Given the description of an element on the screen output the (x, y) to click on. 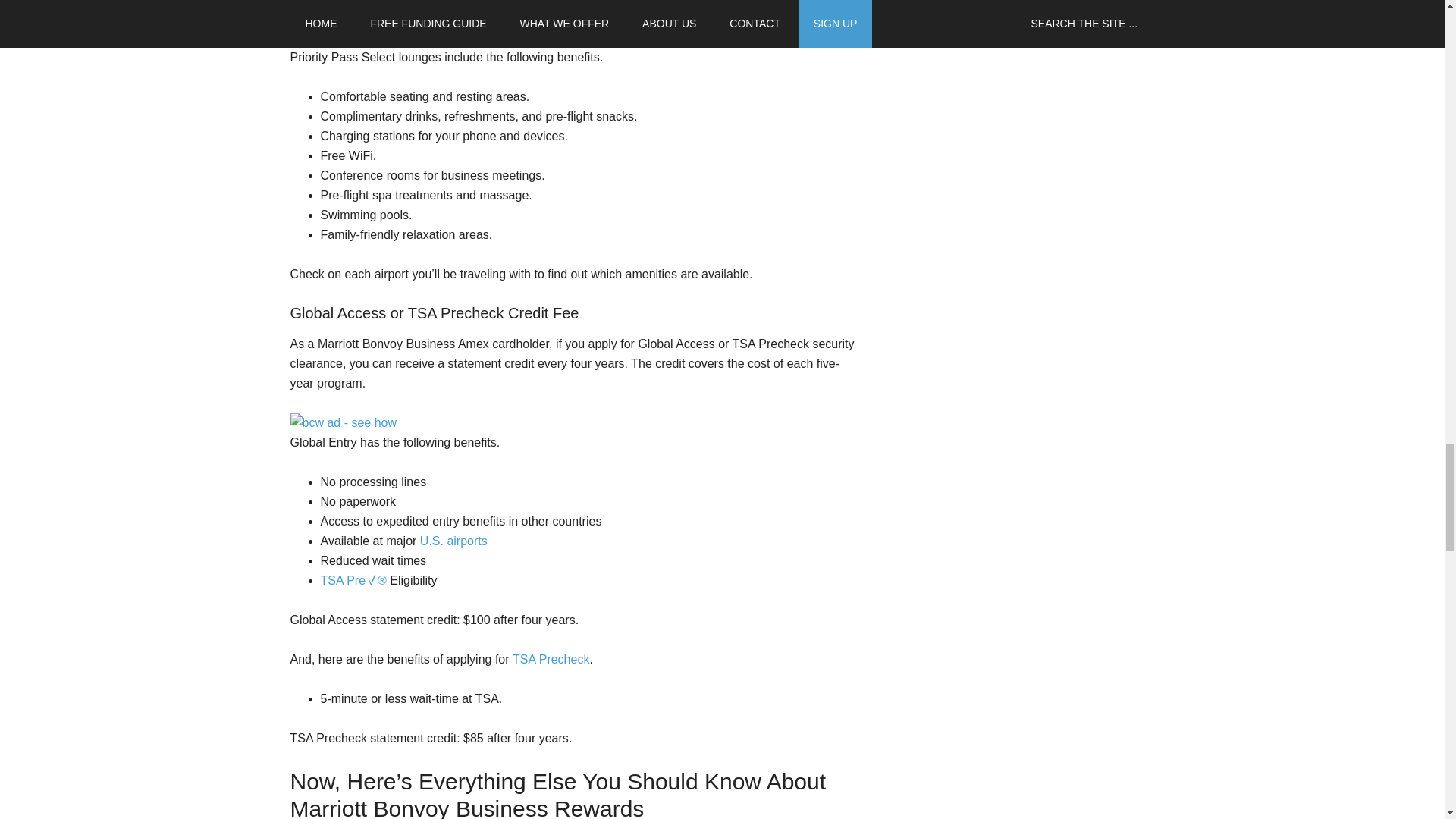
airport lounges (568, 12)
TSA Precheck (550, 658)
U.S. airports (453, 540)
